Given the description of an element on the screen output the (x, y) to click on. 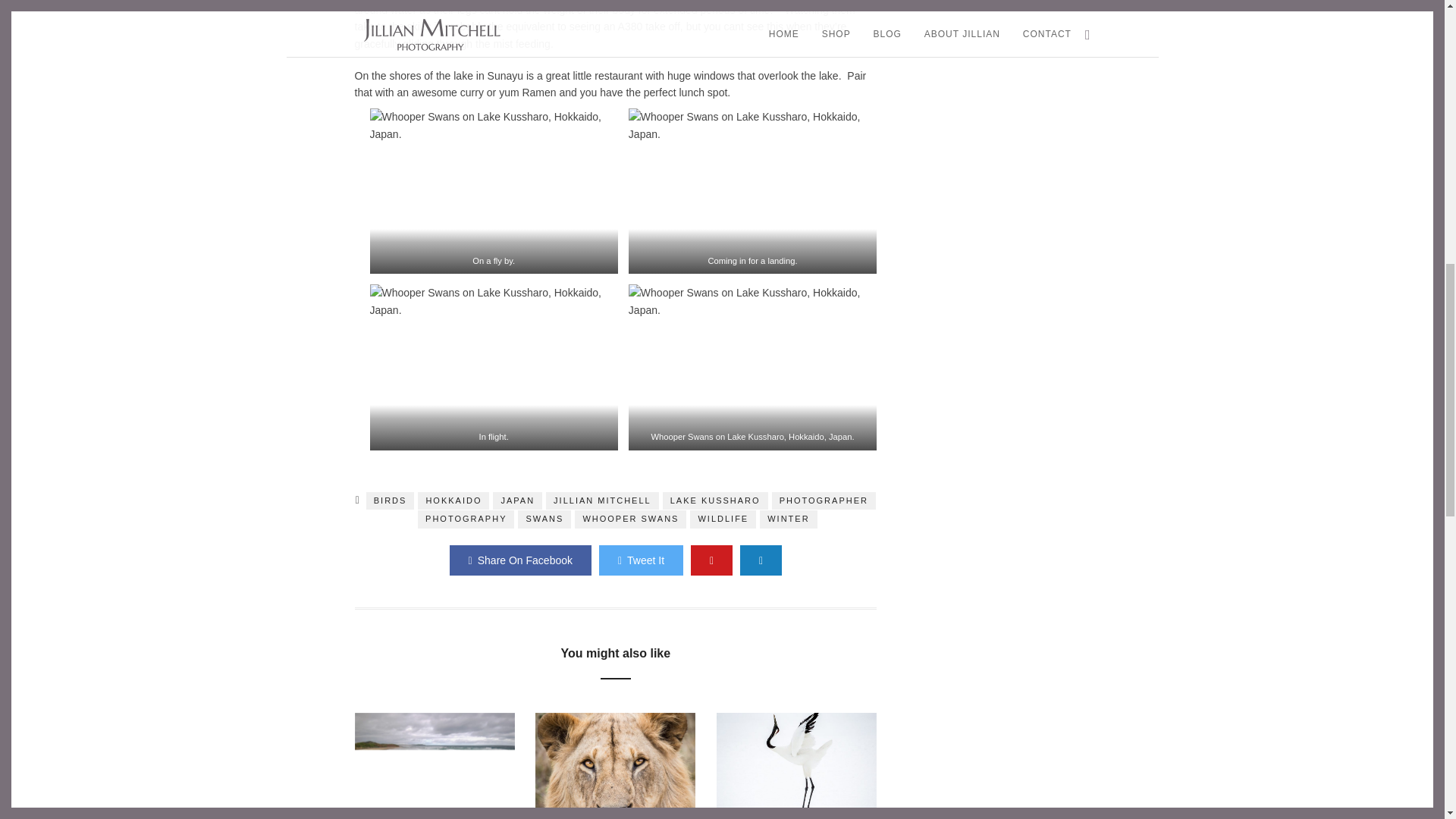
Share On Facebook (520, 560)
WINTER (788, 519)
Share On Twitter (640, 560)
WILDLIFE (722, 519)
JILLIAN MITCHELL (602, 500)
Share by Email (760, 560)
PHOTOGRAPHER (823, 500)
BIRDS (390, 500)
Share On Pinterest (711, 560)
PHOTOGRAPHY (465, 519)
JAPAN (517, 500)
LAKE KUSSHARO (715, 500)
WHOOPER SWANS (630, 519)
Tweet It (640, 560)
Share On Facebook (520, 560)
